Given the description of an element on the screen output the (x, y) to click on. 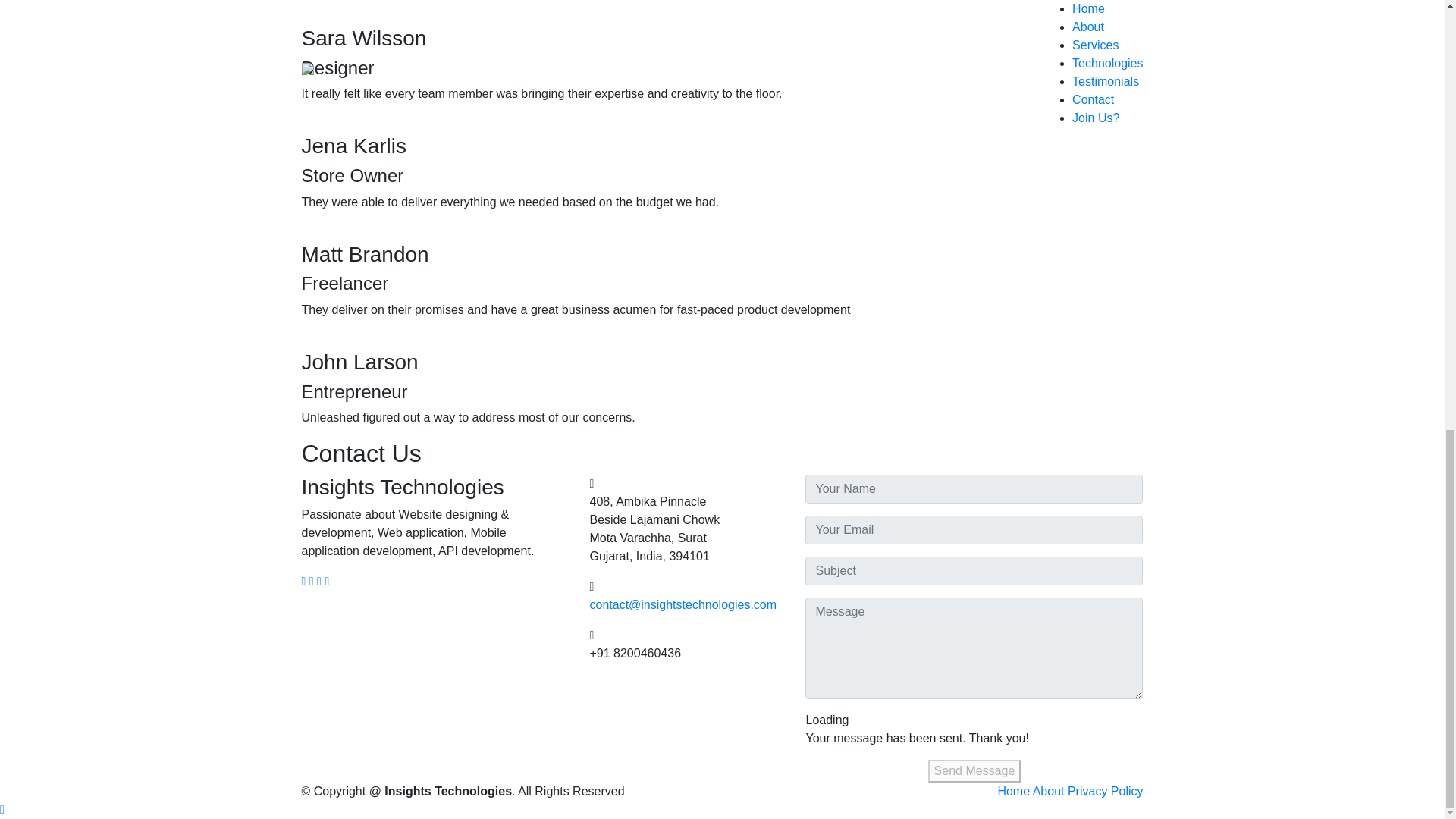
About (1048, 790)
Home (1013, 790)
About (1048, 790)
Privacy Policy (1104, 790)
Send Message (975, 771)
Home (1013, 790)
